Given the description of an element on the screen output the (x, y) to click on. 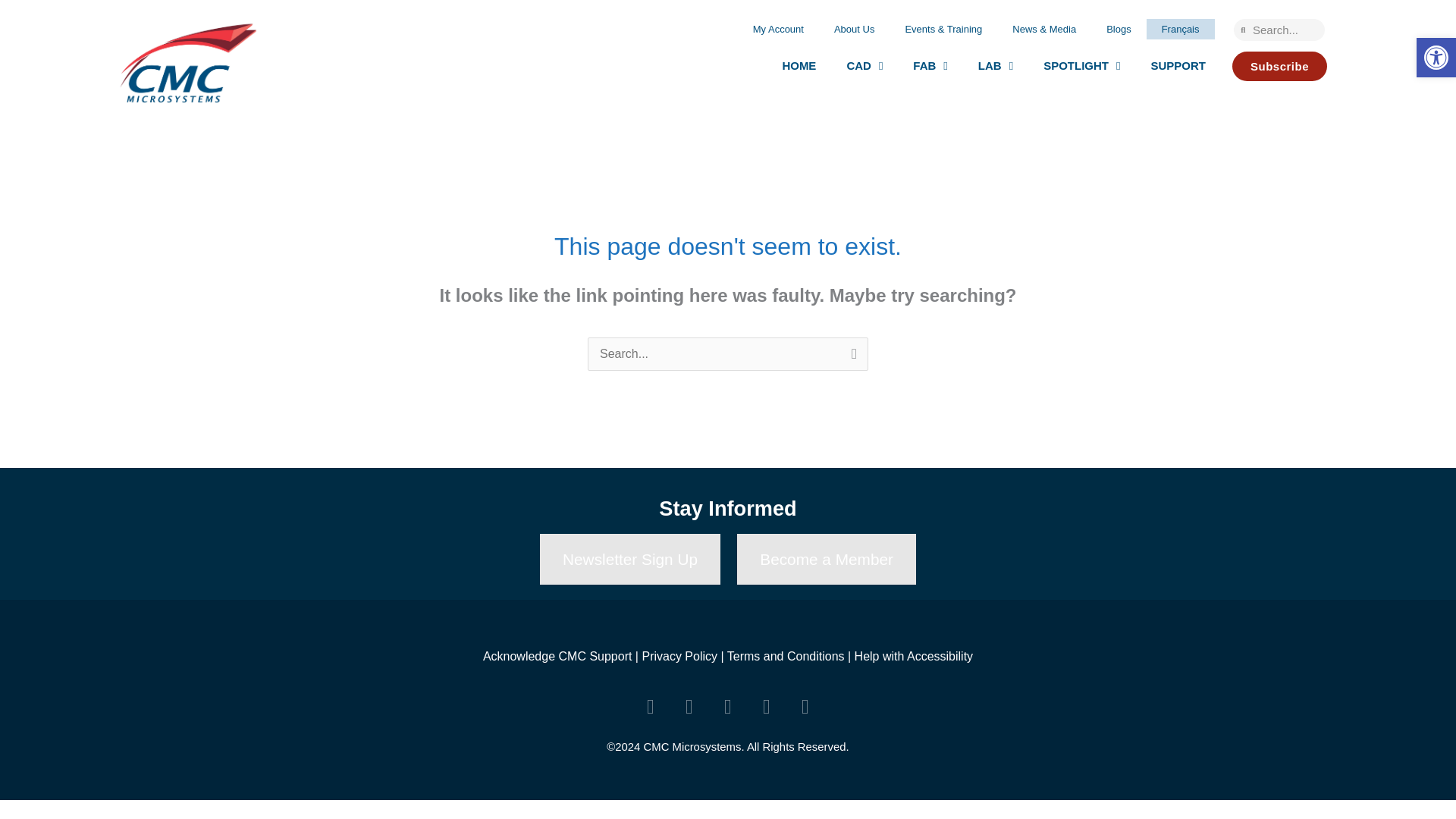
CAD (864, 65)
Blogs (1118, 28)
HOME (799, 65)
My Account (778, 28)
About Us (853, 28)
FAB (930, 65)
Accessibility Tools (1435, 57)
